Given the description of an element on the screen output the (x, y) to click on. 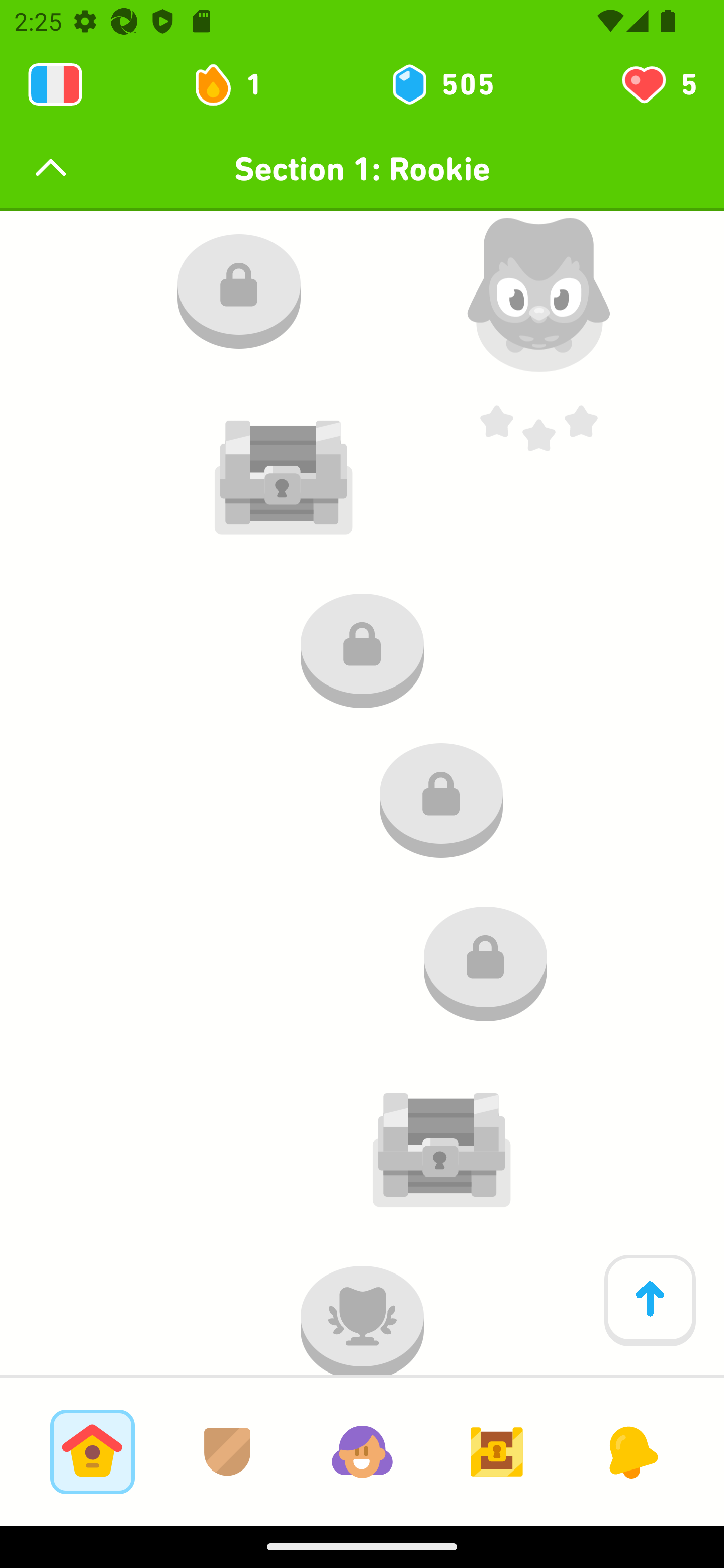
Learning 2131888976 (55, 84)
1 day streak 1 (236, 84)
505 (441, 84)
You have 5 hearts left 5 (657, 84)
Section 1: Rookie (362, 169)
Learn Tab (91, 1451)
Leagues Tab (227, 1451)
Profile Tab (361, 1451)
Goals Tab (496, 1451)
News Tab (631, 1451)
